Given the description of an element on the screen output the (x, y) to click on. 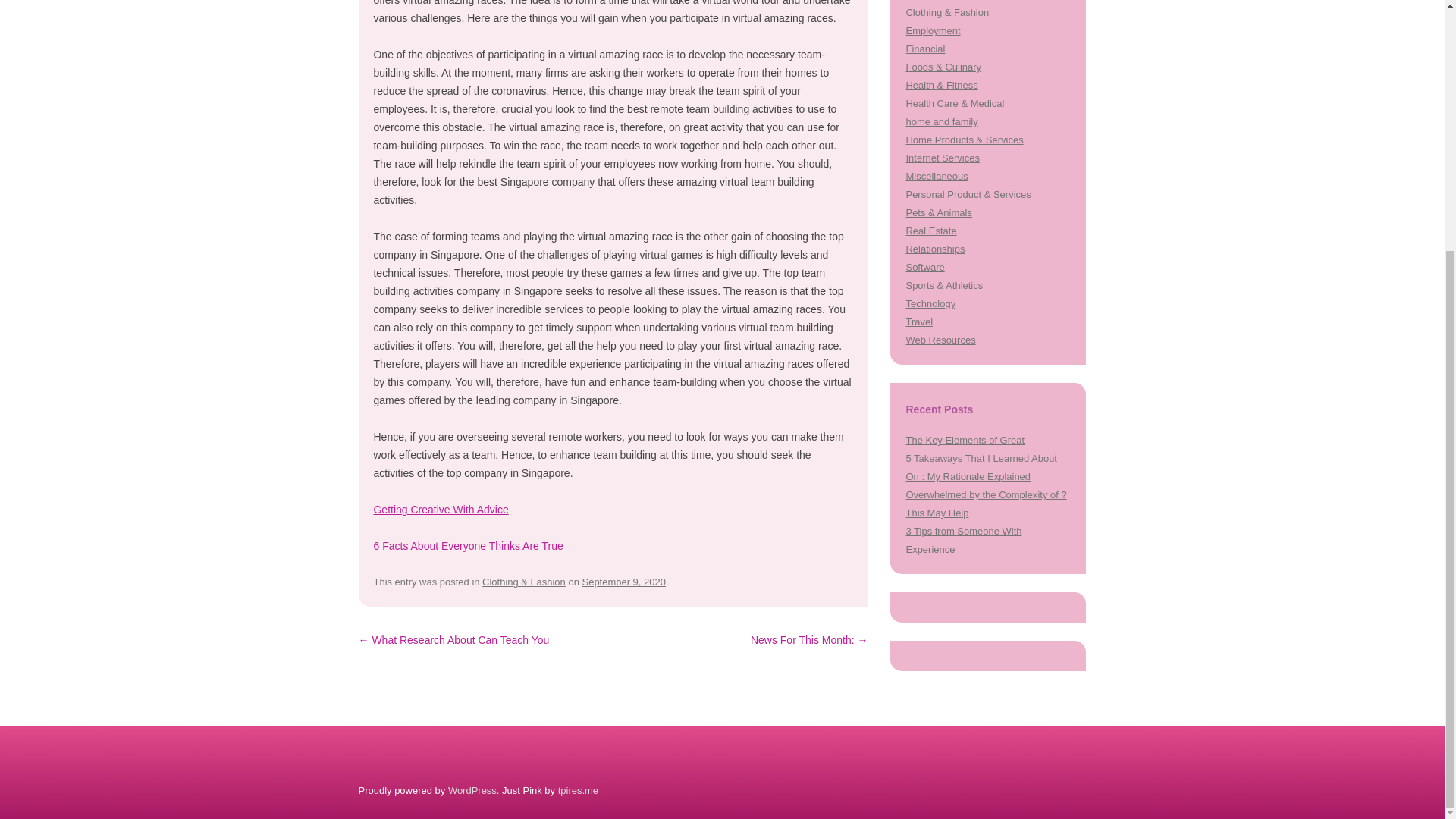
On : My Rationale Explained (967, 476)
Real Estate (930, 230)
home and family (940, 121)
5 Takeaways That I Learned About (981, 458)
Internet Services (941, 157)
Getting Creative With Advice (440, 509)
Employment (932, 30)
6 Facts About Everyone Thinks Are True (467, 545)
Technology (930, 303)
Miscellaneous (936, 175)
